Given the description of an element on the screen output the (x, y) to click on. 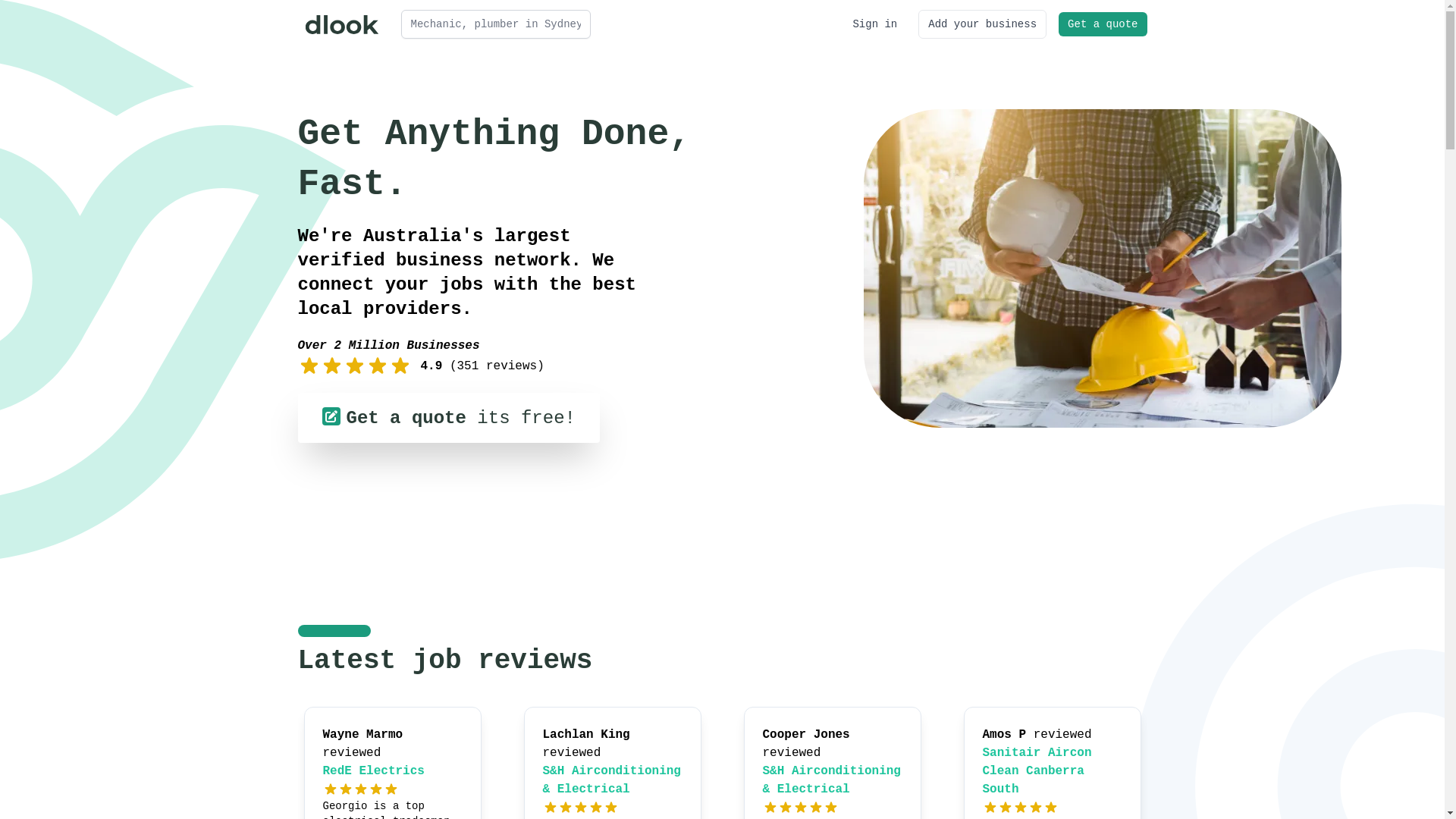
Sign in Element type: text (874, 23)
Get a quote its free! Element type: text (448, 417)
S&H Airconditioning & Electrical Element type: text (831, 780)
Get a quote Element type: text (1102, 24)
Add your business Element type: text (982, 23)
RedE Electrics Element type: text (373, 771)
S&H Airconditioning & Electrical Element type: text (611, 780)
Sanitair Aircon Clean Canberra South Element type: text (1037, 771)
